Given the description of an element on the screen output the (x, y) to click on. 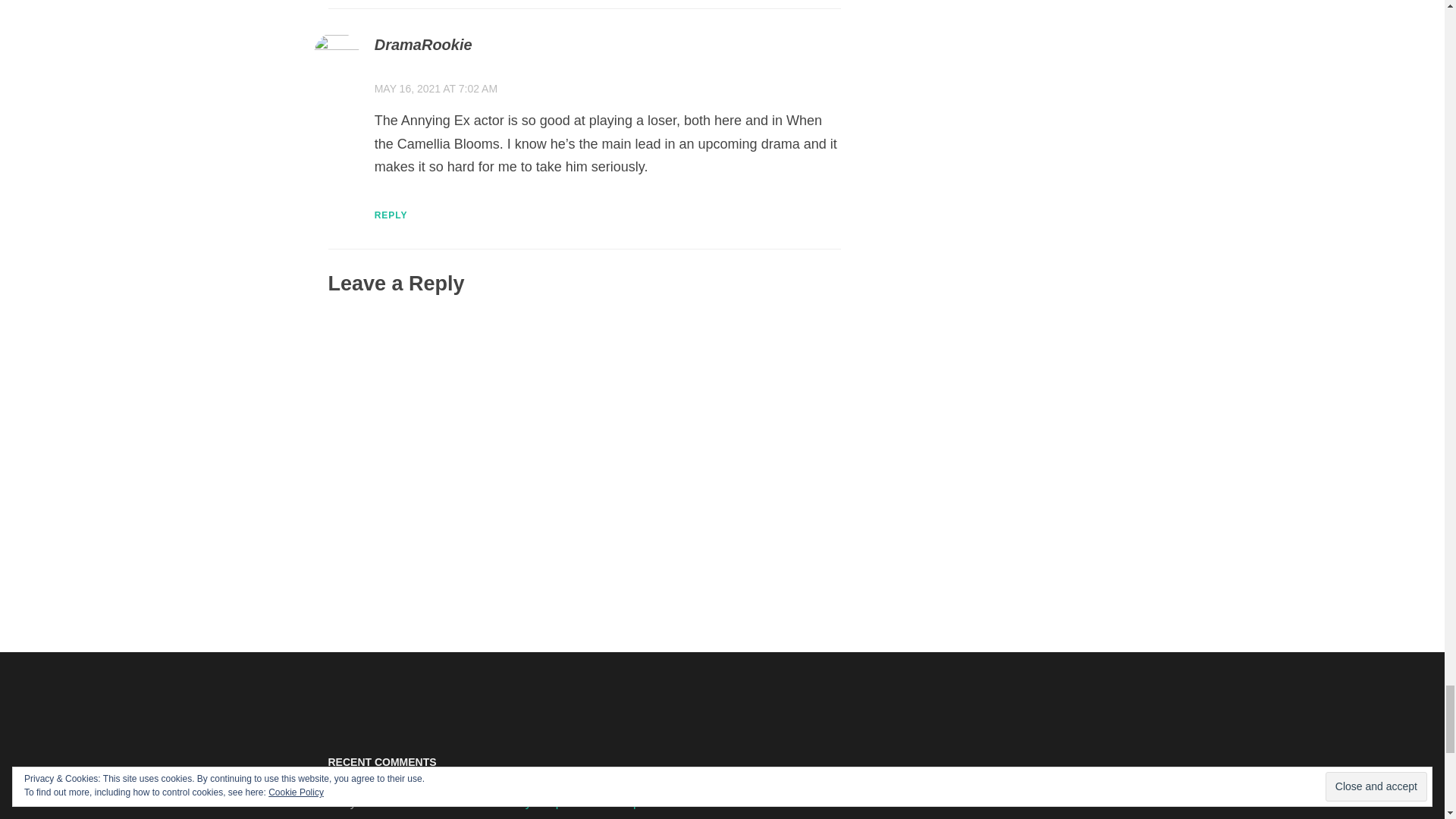
DramaRookie (422, 44)
REPLY (390, 214)
MAY 16, 2021 AT 7:02 AM (435, 88)
